Given the description of an element on the screen output the (x, y) to click on. 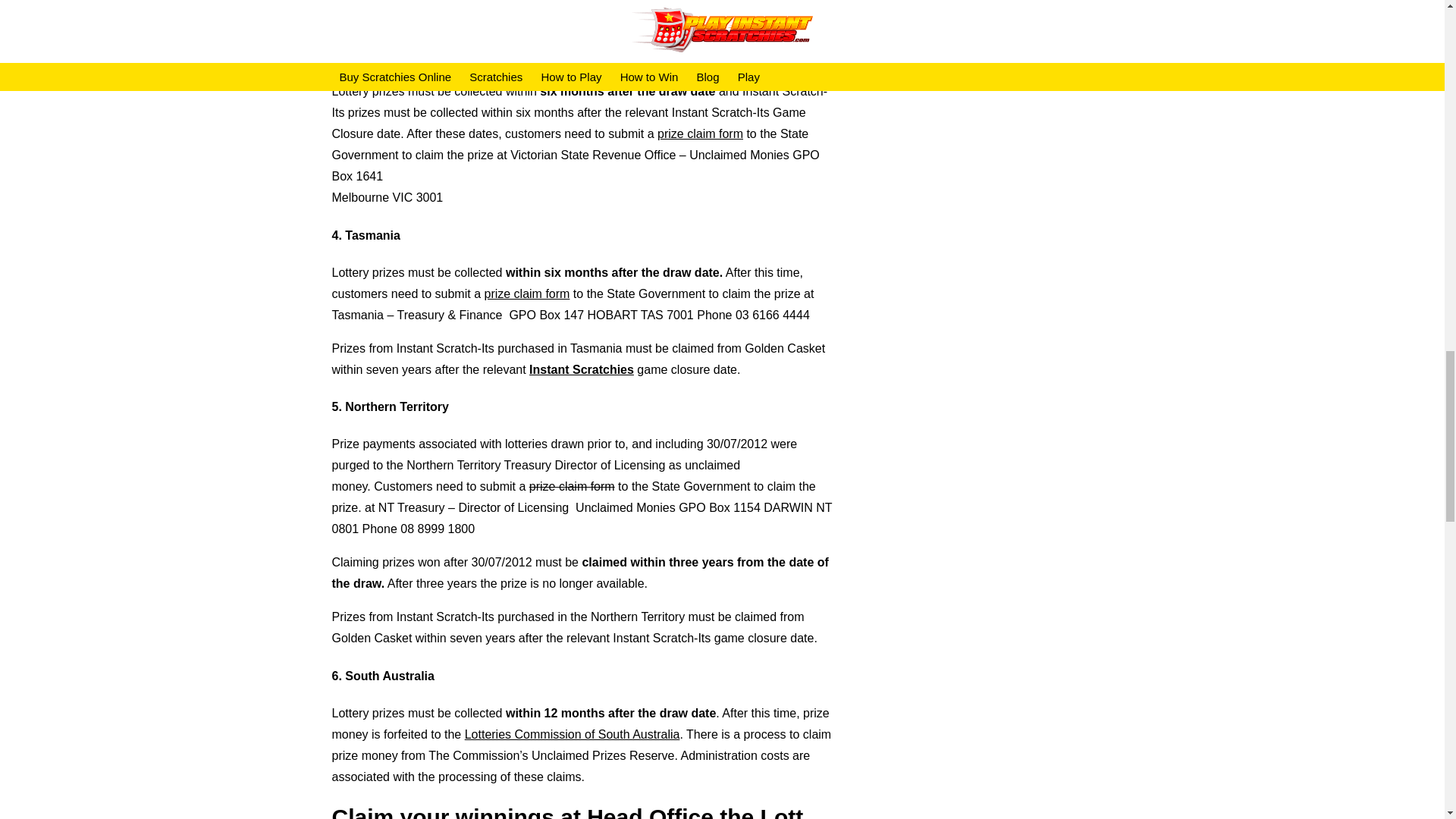
prize claim form (571, 486)
prize claim form (526, 293)
prize claim form (700, 133)
Lotteries Commission of South Australia (571, 734)
Instant Scratchies (581, 369)
